Given the description of an element on the screen output the (x, y) to click on. 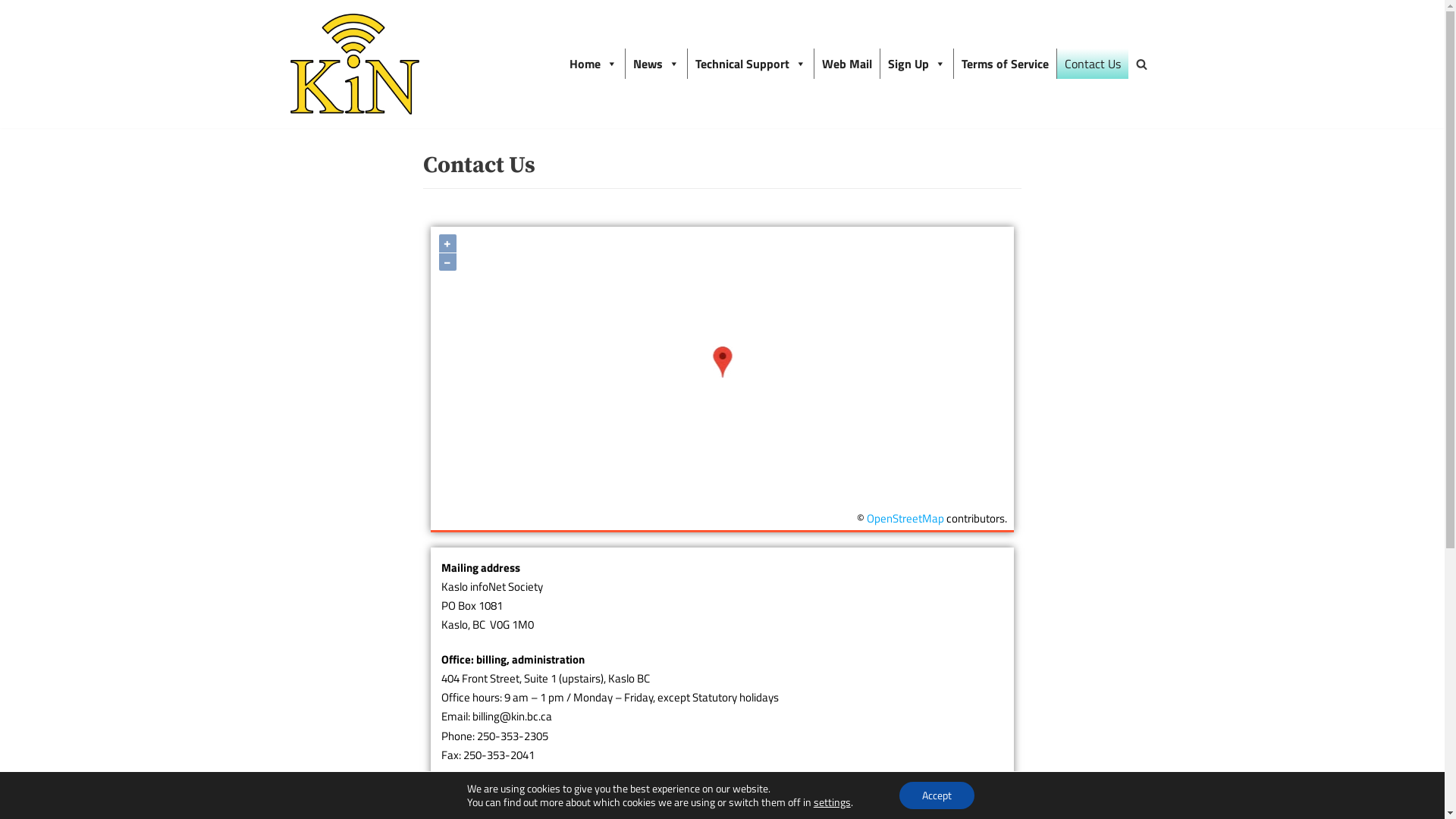
OpenStreetMap Element type: text (904, 518)
News Element type: text (655, 63)
Technical Support Element type: text (749, 63)
KiN :: Live Element type: hover (353, 63)
Skip to content Element type: text (15, 31)
Web Mail Element type: text (846, 63)
Home Element type: text (592, 63)
Accept Element type: text (936, 795)
+ Element type: text (447, 243)
Sign Up Element type: text (915, 63)
Search Element type: text (1137, 409)
Terms of Service Element type: text (1004, 63)
Contact Us Element type: text (1092, 63)
